Given the description of an element on the screen output the (x, y) to click on. 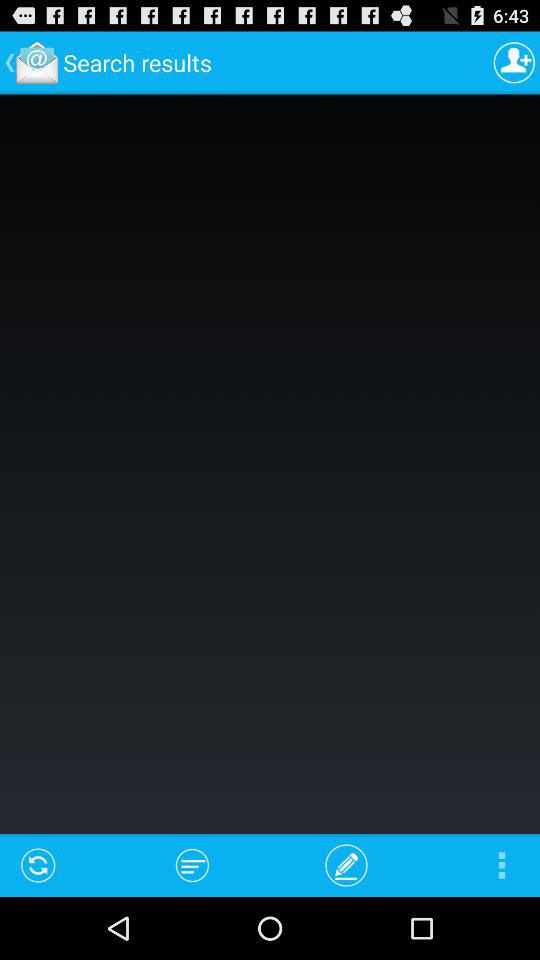
select the item at the bottom right corner (501, 864)
